Given the description of an element on the screen output the (x, y) to click on. 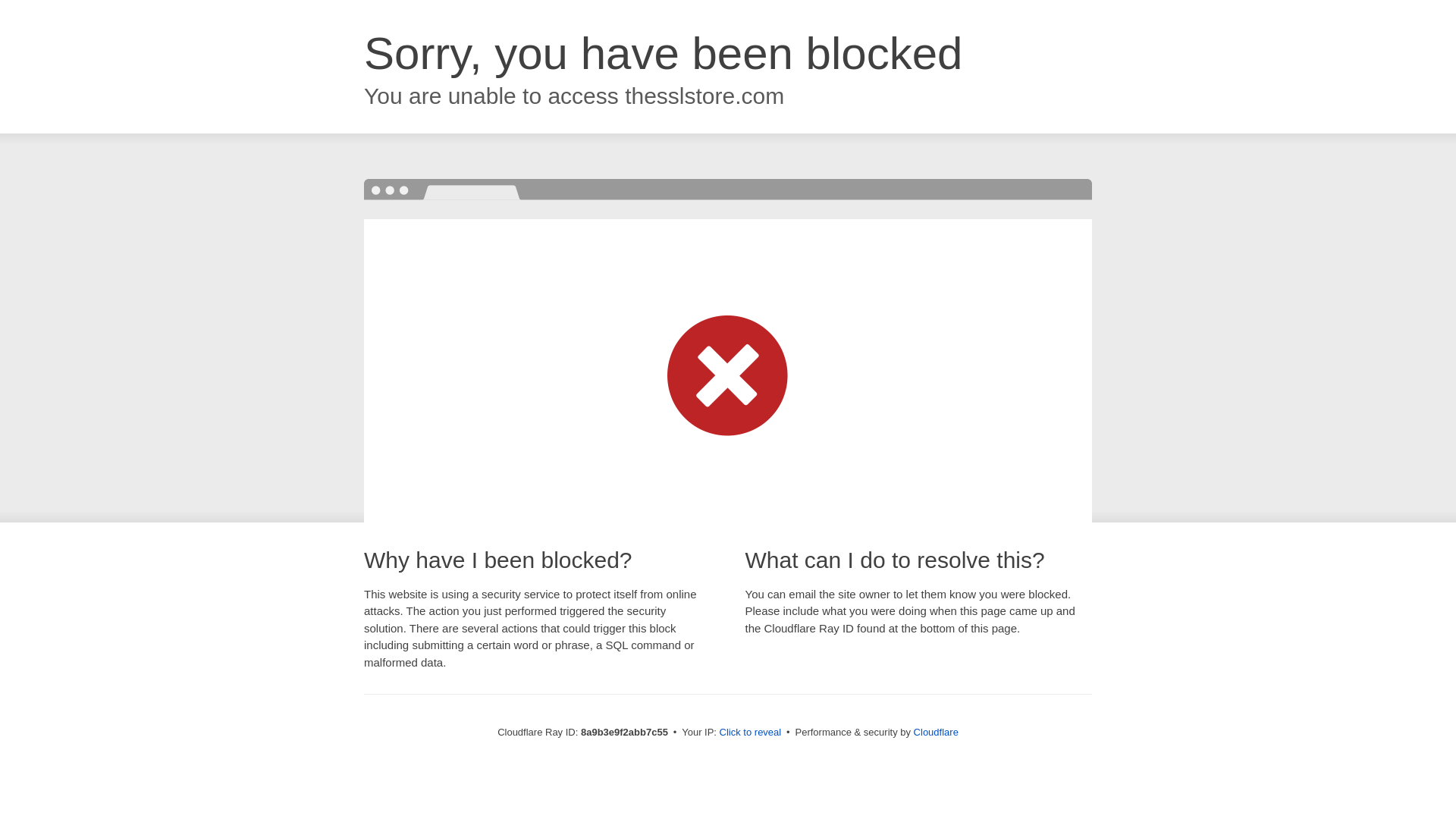
Click to reveal (750, 732)
Cloudflare (936, 731)
